Given the description of an element on the screen output the (x, y) to click on. 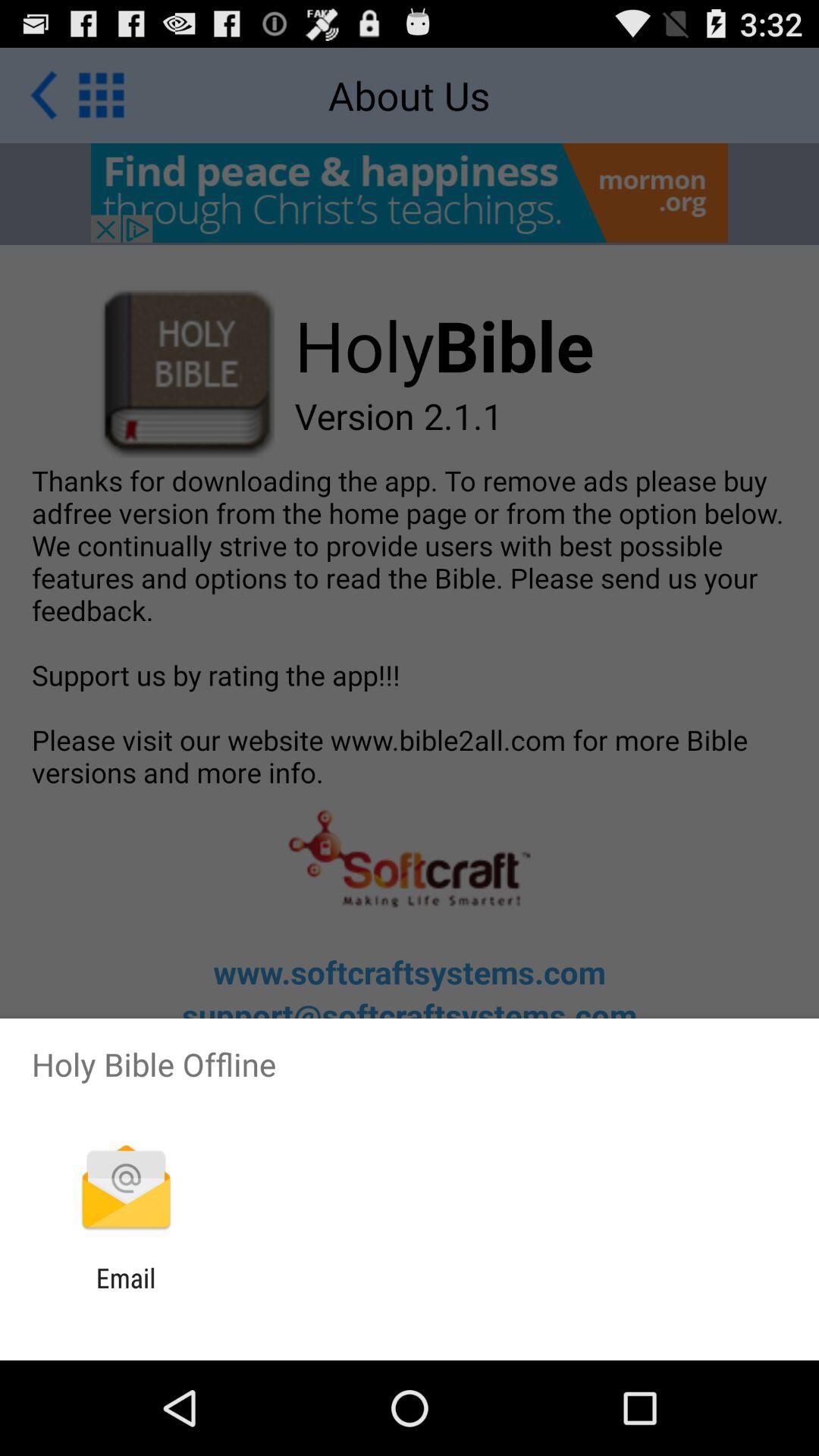
open item below holy bible offline app (126, 1189)
